Given the description of an element on the screen output the (x, y) to click on. 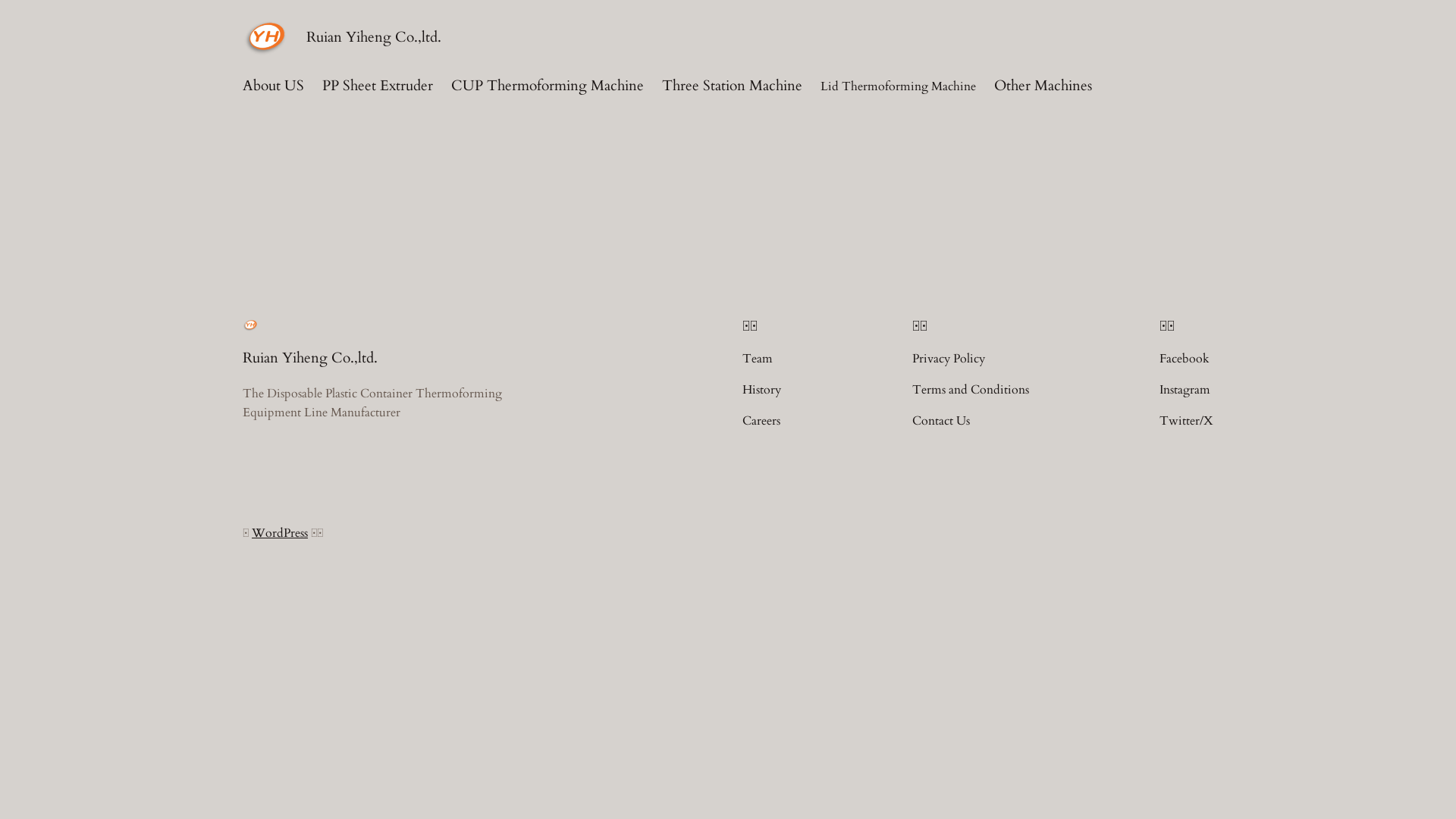
WordPress Element type: text (279, 532)
Instagram Element type: text (1184, 389)
Ruian Yiheng Co.,ltd. Element type: text (309, 357)
History Element type: text (761, 389)
Team Element type: text (757, 358)
Lid Thermoforming Machine Element type: text (897, 86)
Three Station Machine Element type: text (732, 86)
Facebook Element type: text (1184, 358)
About US Element type: text (273, 86)
Careers Element type: text (761, 420)
Terms and Conditions Element type: text (970, 389)
Privacy Policy Element type: text (948, 358)
CUP Thermoforming Machine Element type: text (547, 86)
Twitter/X Element type: text (1186, 420)
Other Machines Element type: text (1043, 86)
PP Sheet Extruder Element type: text (377, 86)
Contact Us Element type: text (940, 420)
Ruian Yiheng Co.,ltd. Element type: text (373, 37)
